Given the description of an element on the screen output the (x, y) to click on. 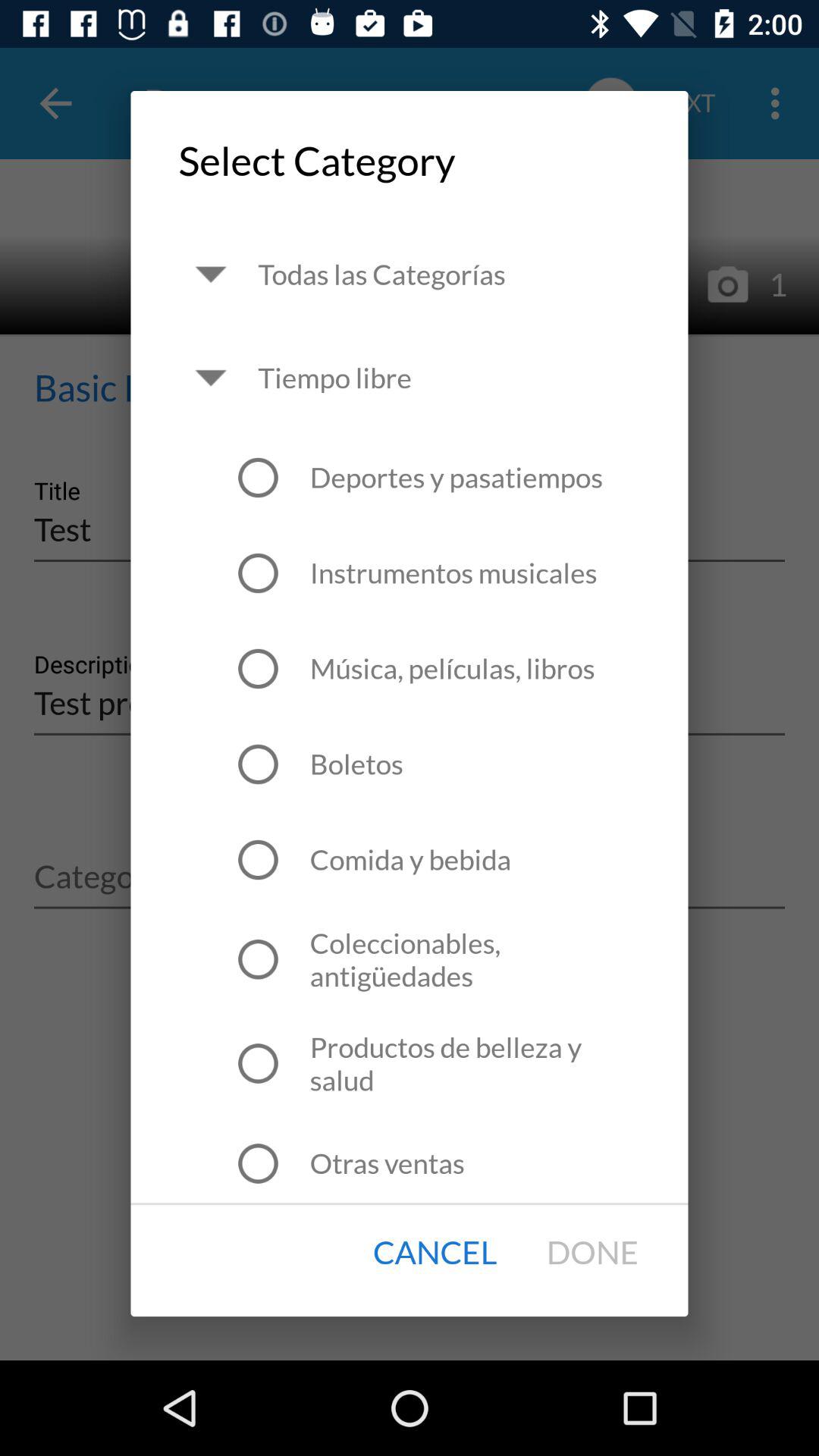
tap icon above productos de belleza item (474, 959)
